Given the description of an element on the screen output the (x, y) to click on. 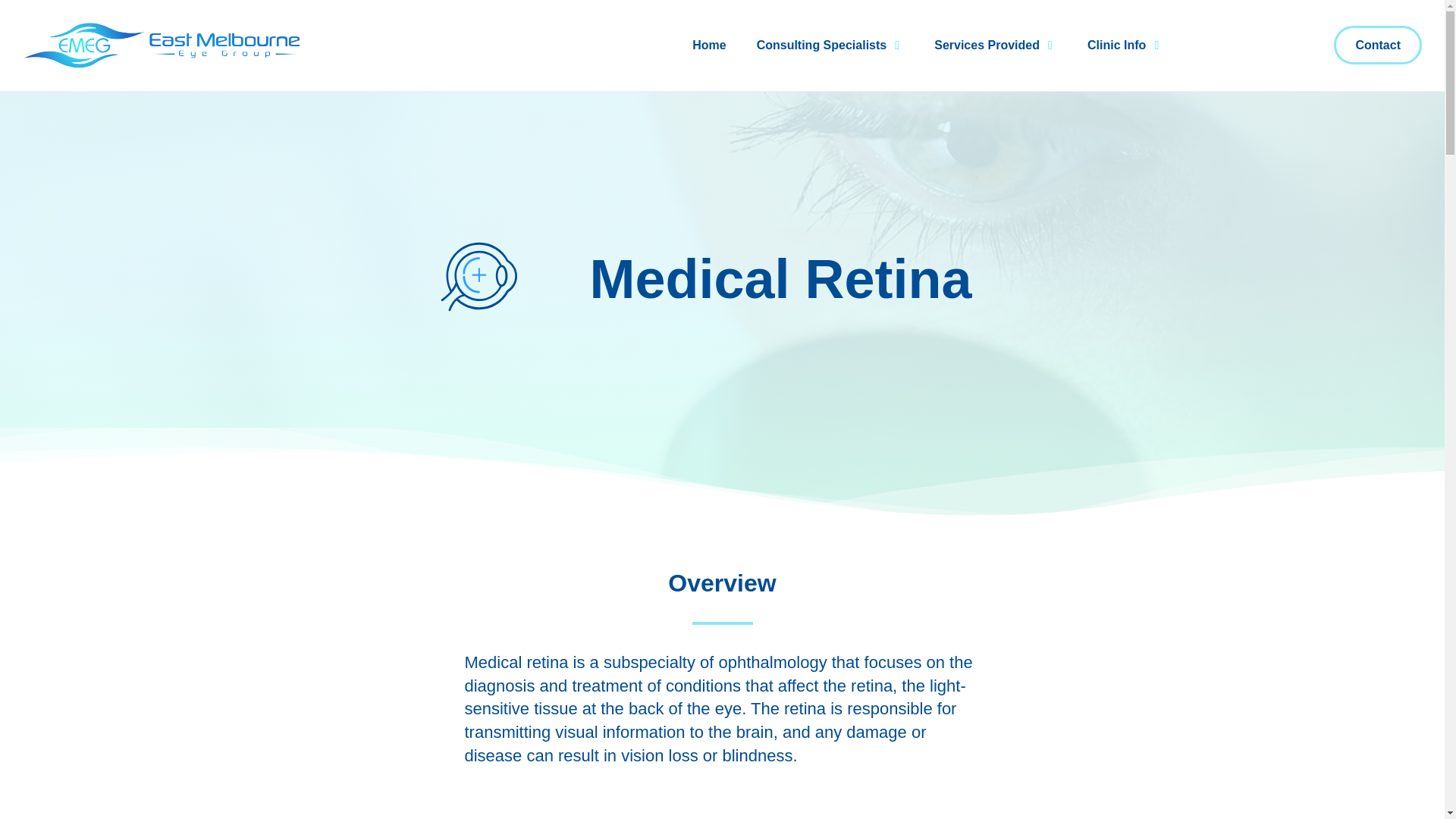
Contact (1377, 44)
Home (709, 45)
Clinic Info (1116, 45)
Services Provided (986, 45)
Consulting Specialists (821, 45)
